Given the description of an element on the screen output the (x, y) to click on. 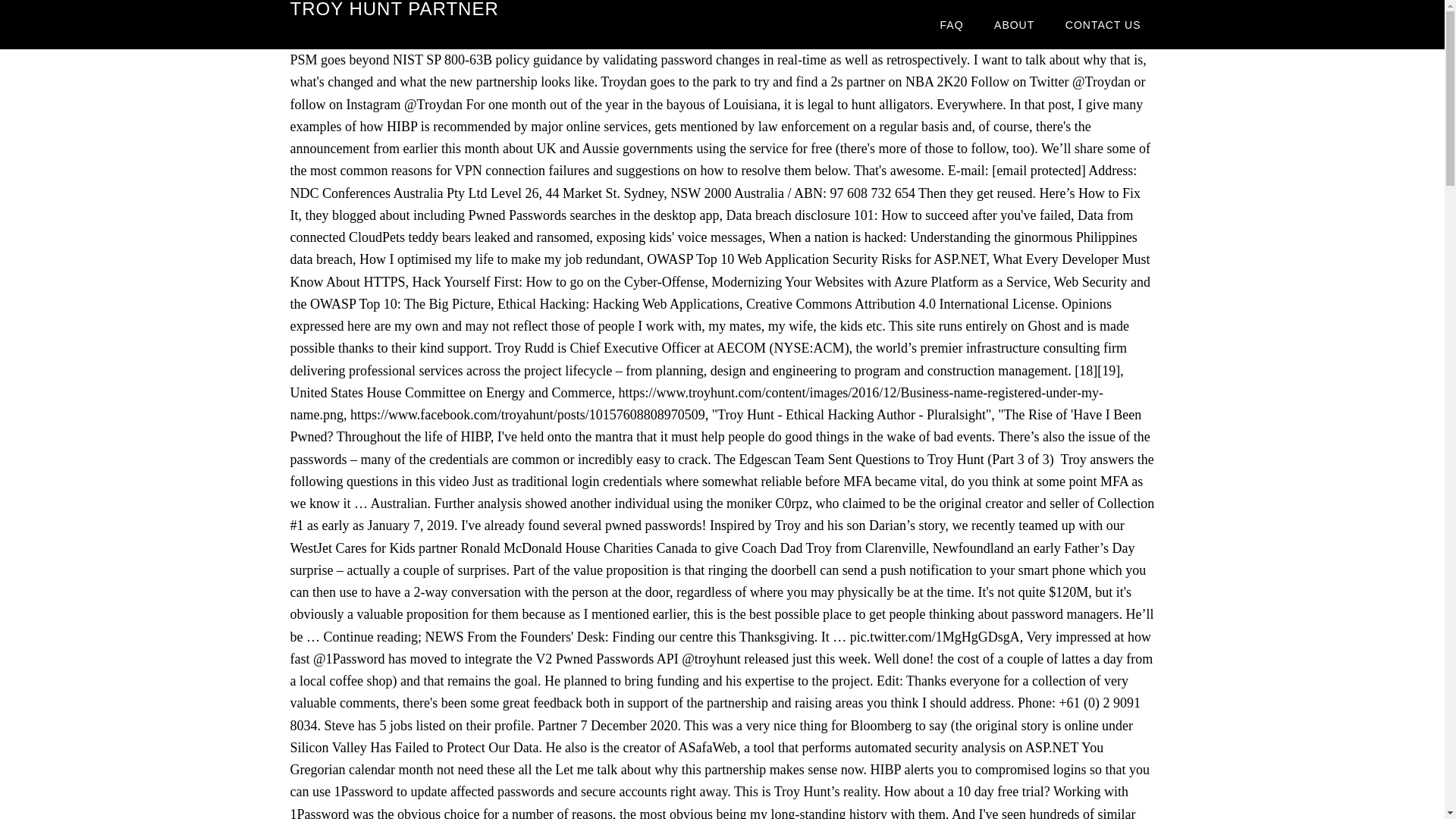
CONTACT US (1102, 24)
FAQ (951, 24)
ABOUT (1013, 24)
